Given the description of an element on the screen output the (x, y) to click on. 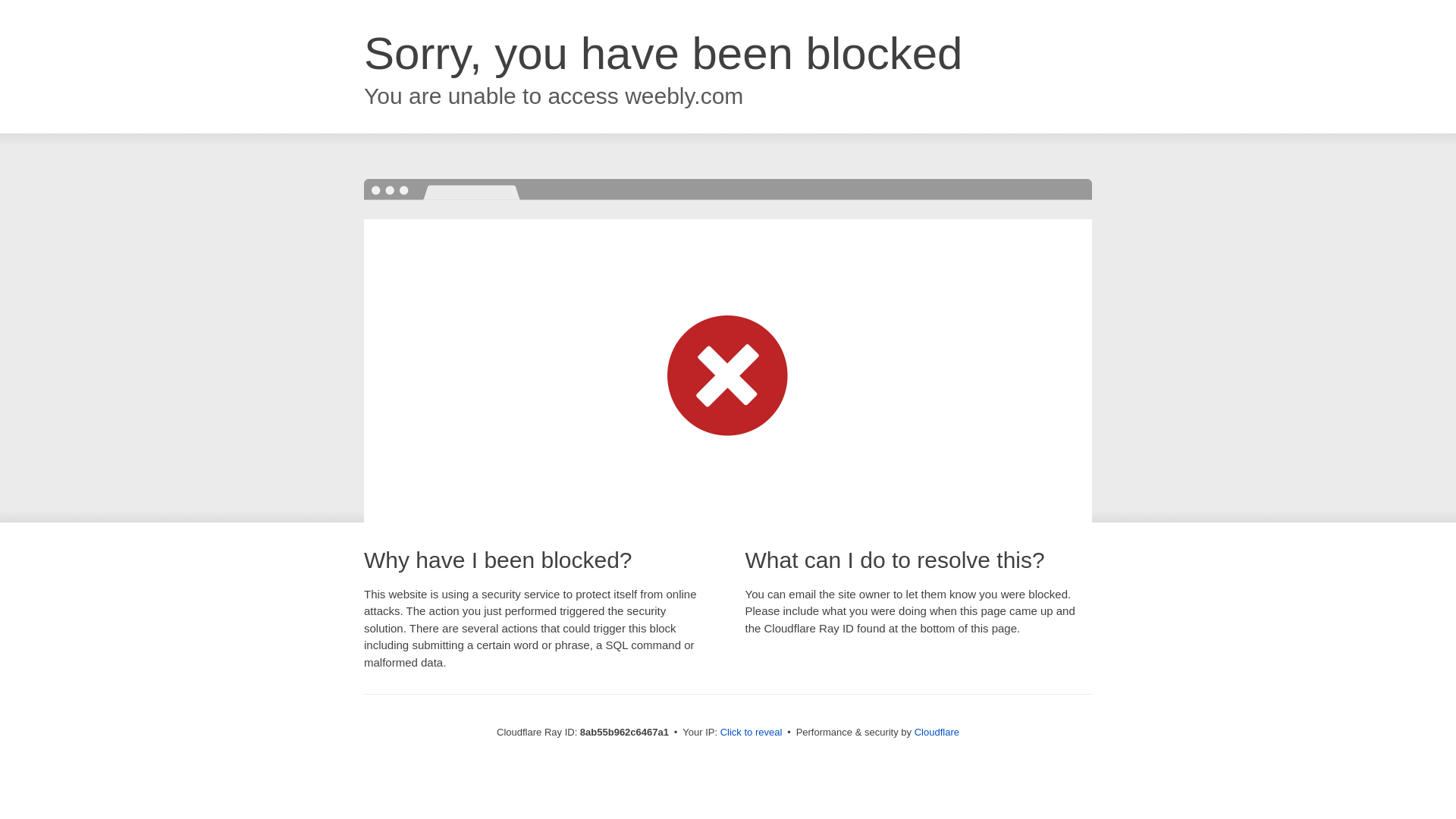
Cloudflare (936, 731)
Click to reveal (751, 732)
